Given the description of an element on the screen output the (x, y) to click on. 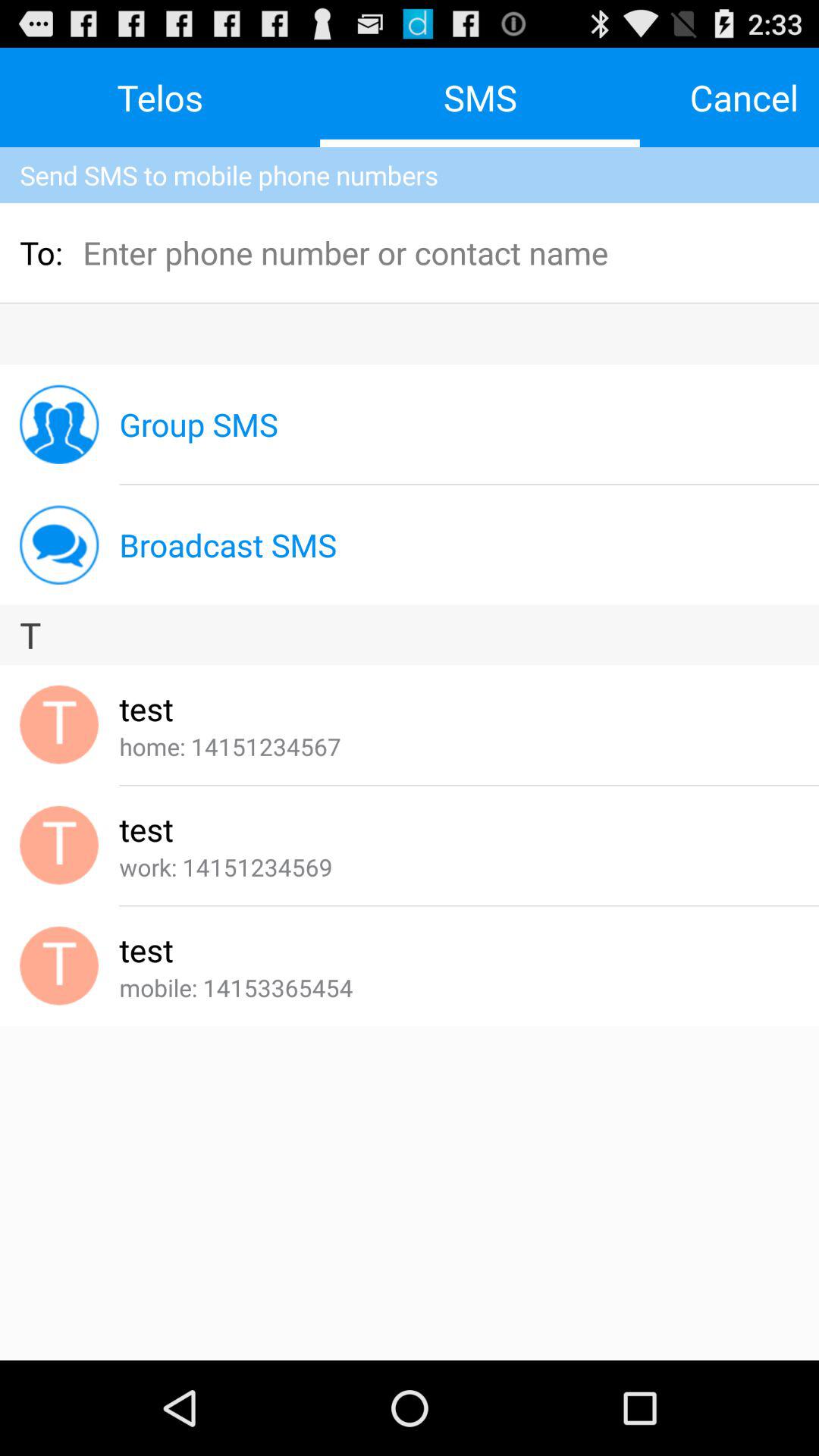
swipe to mobile: 14153365454 icon (236, 987)
